Given the description of an element on the screen output the (x, y) to click on. 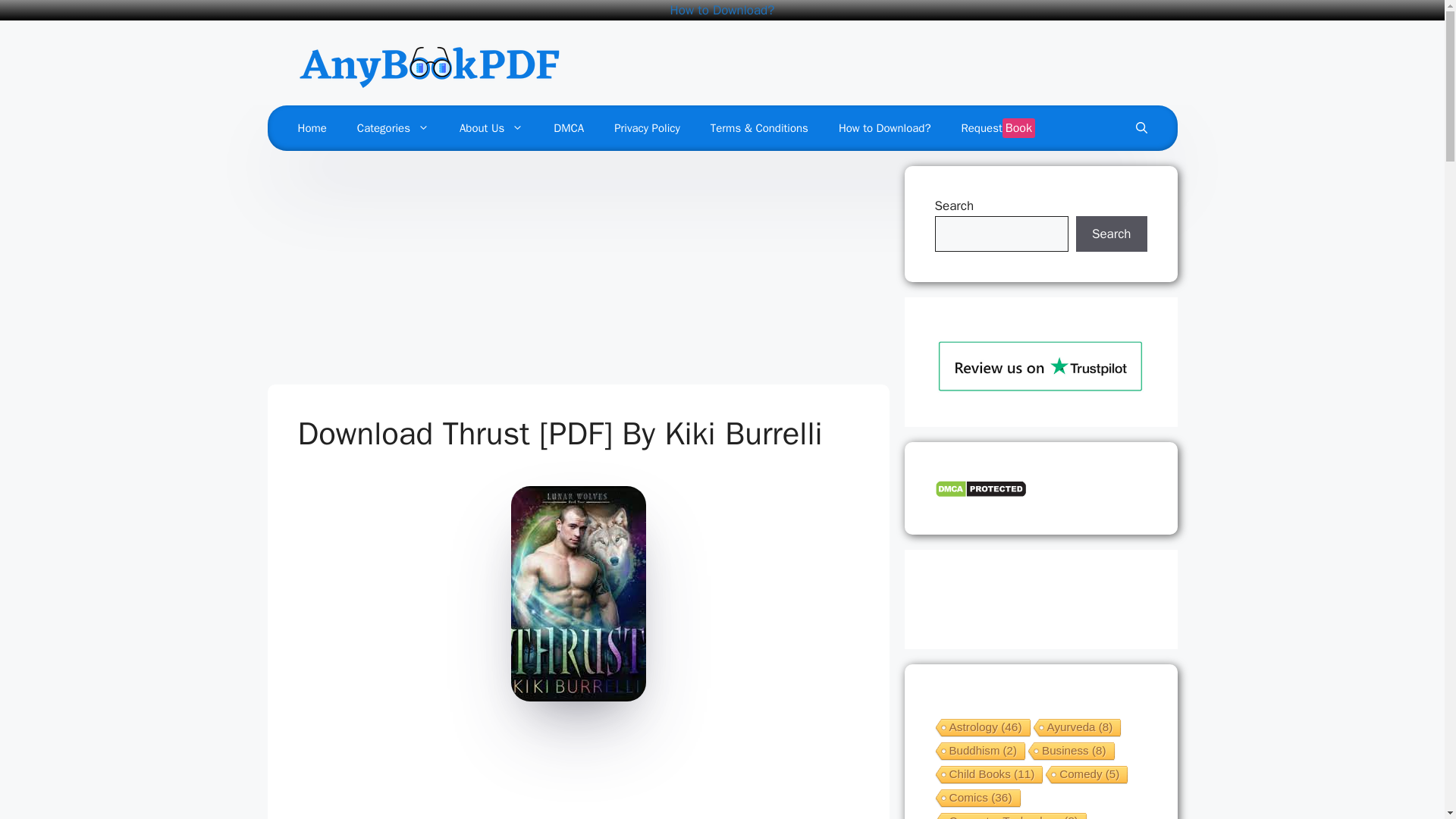
Categories (393, 127)
Home (311, 127)
How to Download? (721, 10)
DMCA.com Protection Status (980, 494)
About Us (491, 127)
Advertisement (578, 272)
Advertisement (572, 773)
